Given the description of an element on the screen output the (x, y) to click on. 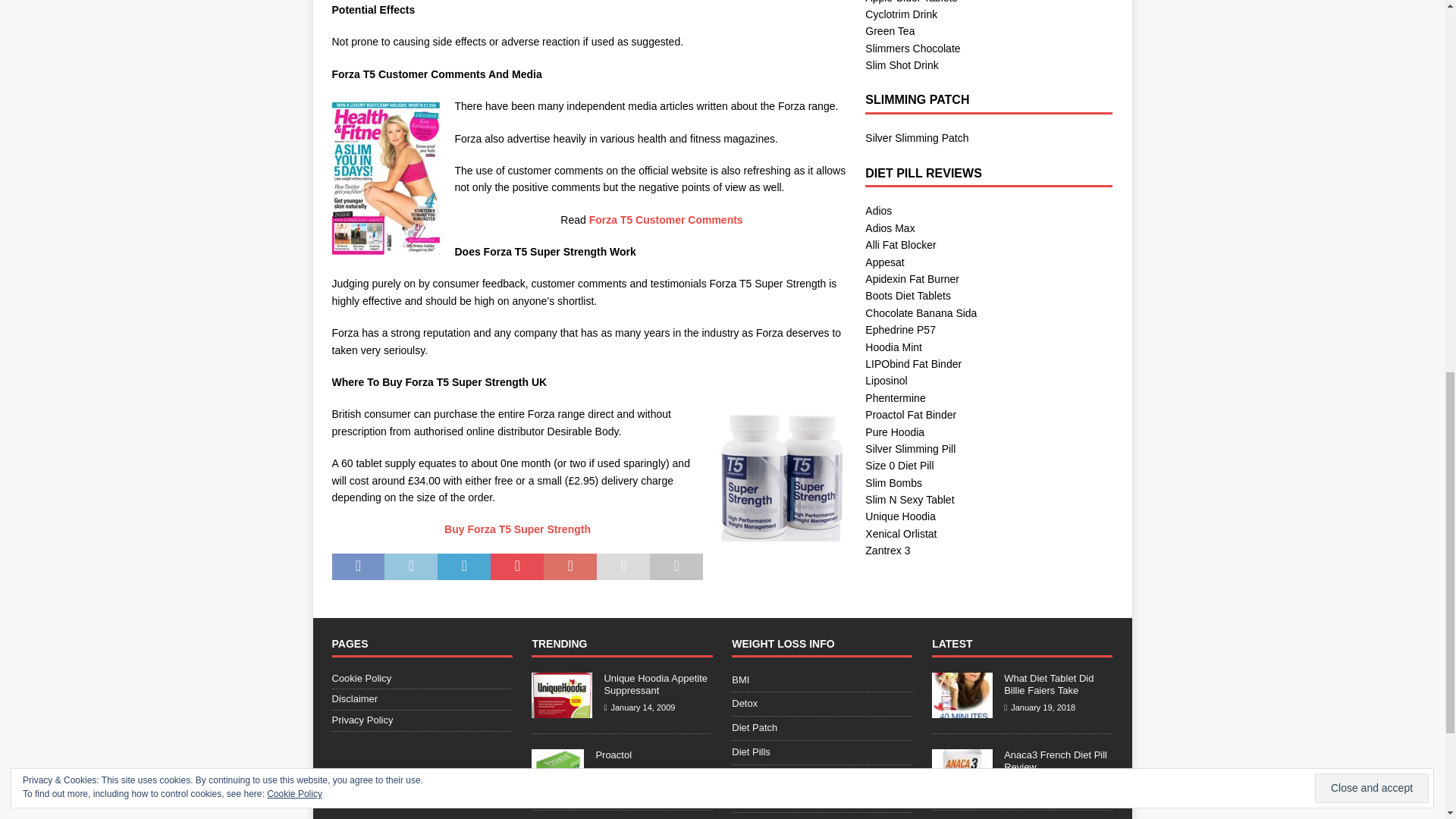
Buy T5 SS (782, 475)
Forza T5 Customer Comments (665, 219)
Buy Forza T5 Super Strength (517, 529)
